Given the description of an element on the screen output the (x, y) to click on. 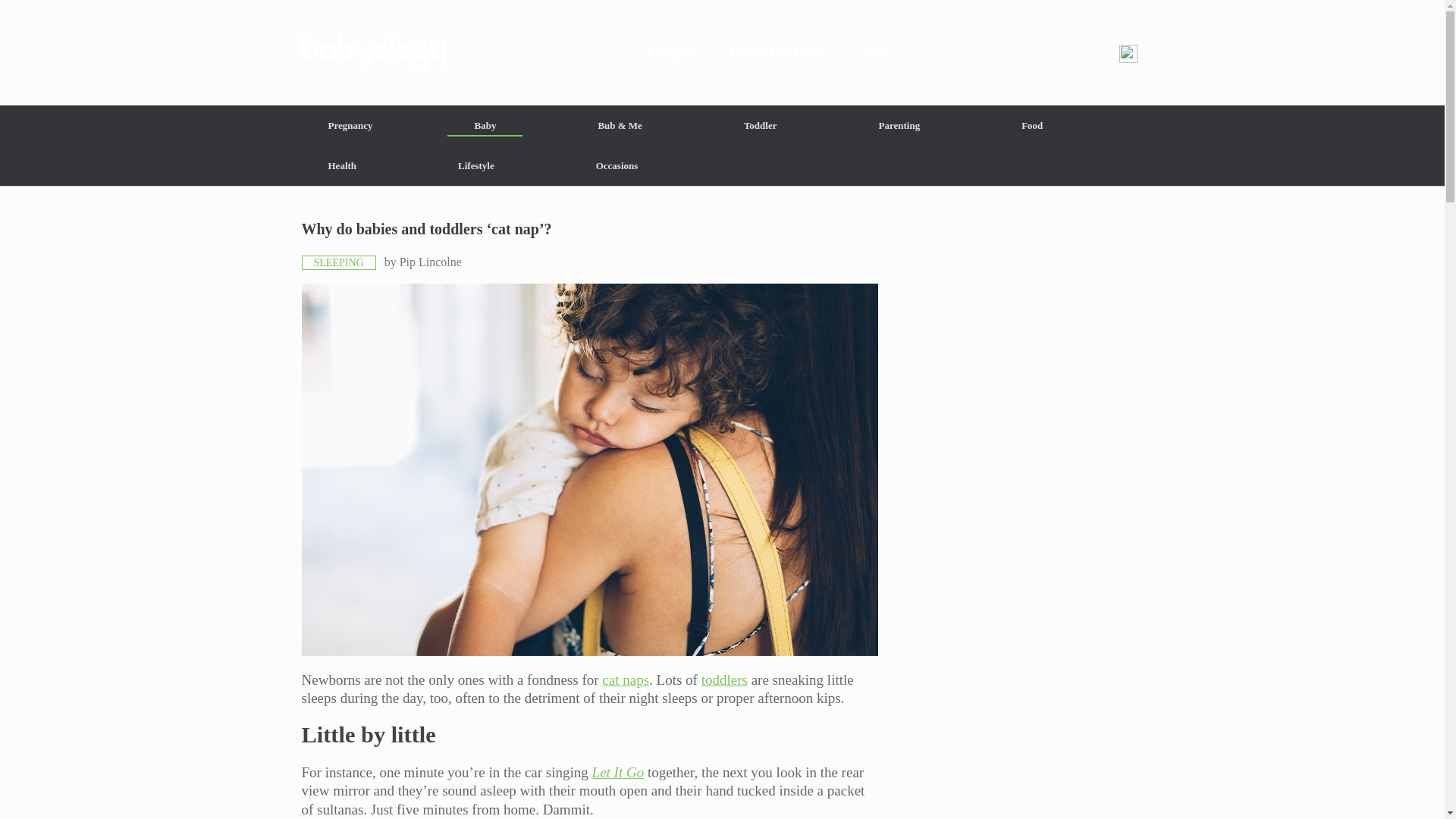
cat naps (625, 679)
toddlers (724, 679)
Food (1031, 125)
Events (669, 52)
SLEEPING (338, 262)
Win (874, 52)
Parenting (898, 125)
Let It Go (618, 772)
Babyology (721, 52)
Pip Lincolne (429, 261)
